Given the description of an element on the screen output the (x, y) to click on. 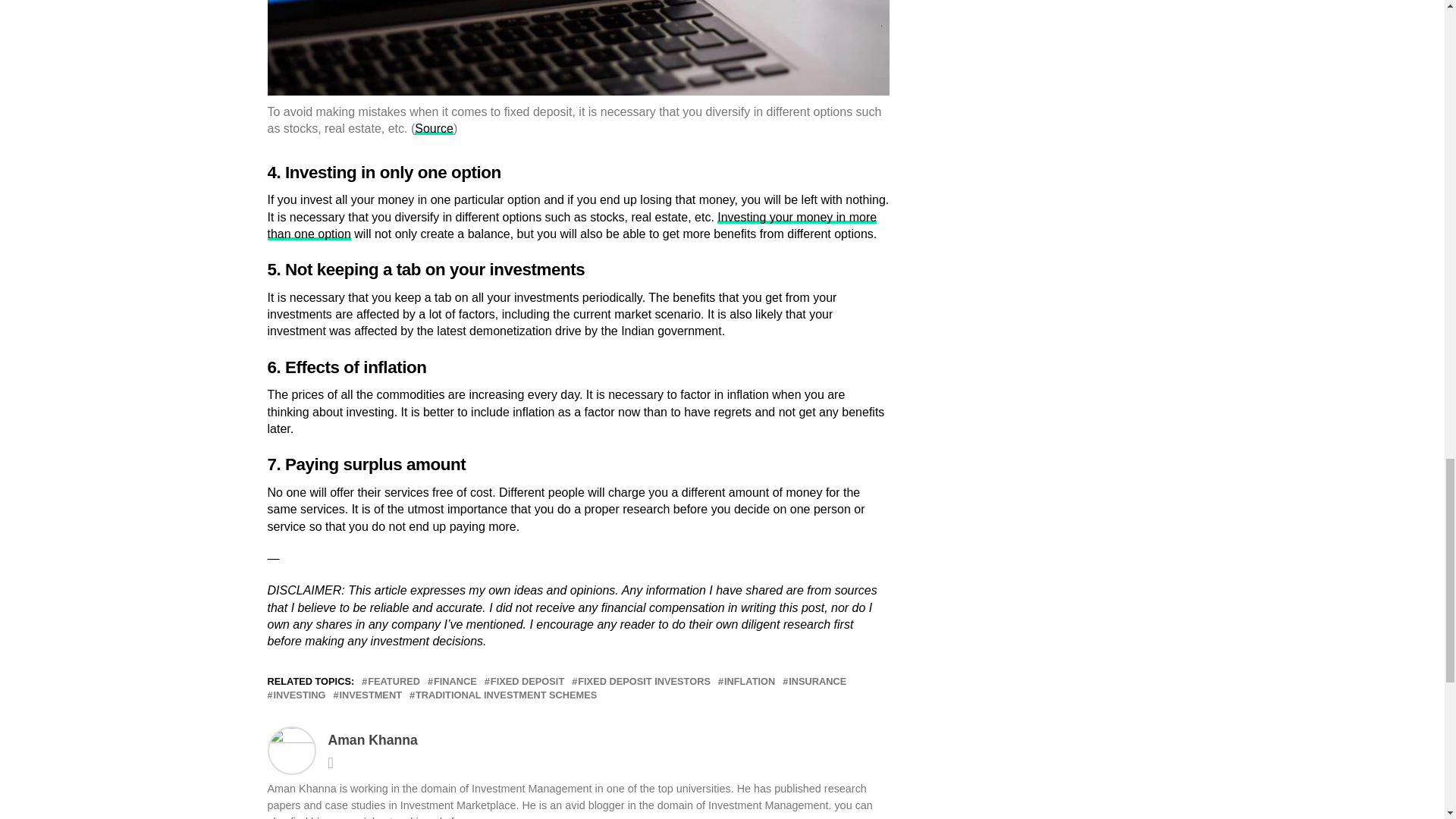
Investing your money in more than one option (571, 225)
FINANCE (455, 682)
FEATURED (394, 682)
INFLATION (748, 682)
FIXED DEPOSIT (527, 682)
Posts by Aman Khanna (371, 739)
FIXED DEPOSIT INVESTORS (644, 682)
Source (433, 128)
